Given the description of an element on the screen output the (x, y) to click on. 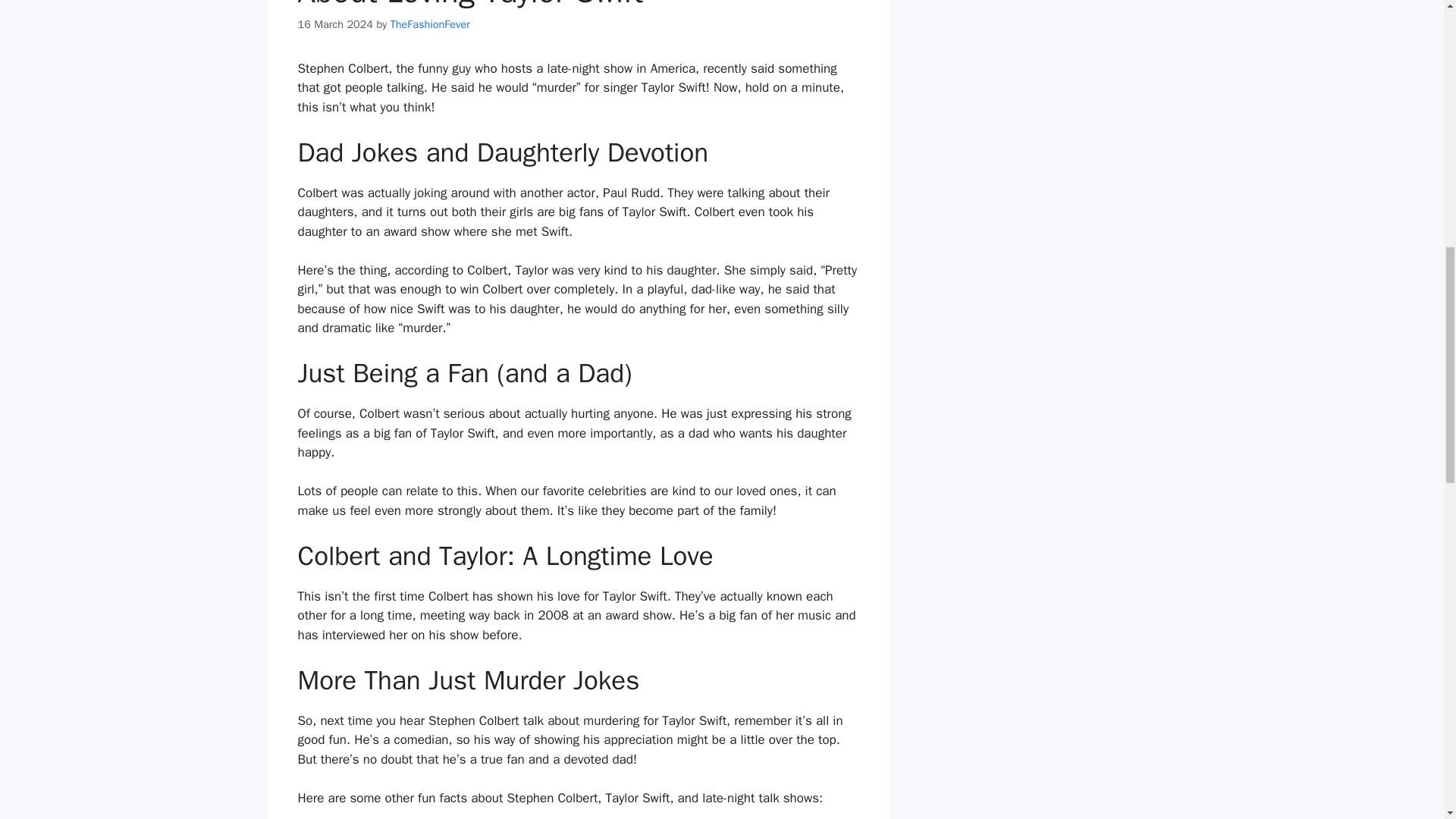
View all posts by TheFashionFever (430, 24)
TheFashionFever (430, 24)
